Given the description of an element on the screen output the (x, y) to click on. 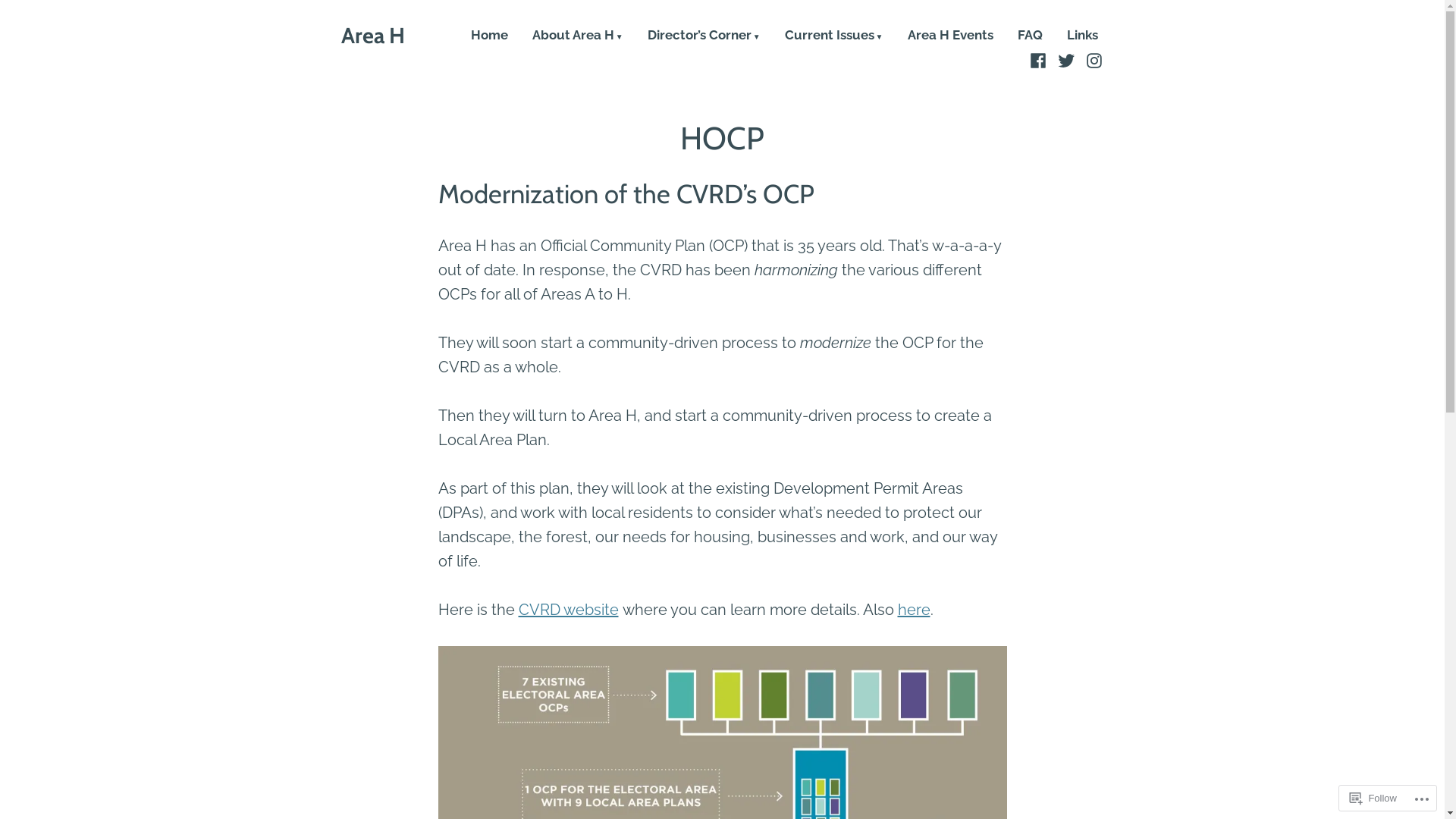
About Area H Element type: text (577, 35)
Follow Element type: text (1372, 797)
Current Issues Element type: text (833, 35)
Area H Events Element type: text (949, 35)
Home Element type: text (489, 35)
FAQ Element type: text (1029, 35)
CVRD website Element type: text (568, 609)
Links Element type: text (1081, 35)
here Element type: text (913, 609)
Area H Element type: text (372, 34)
